Given the description of an element on the screen output the (x, y) to click on. 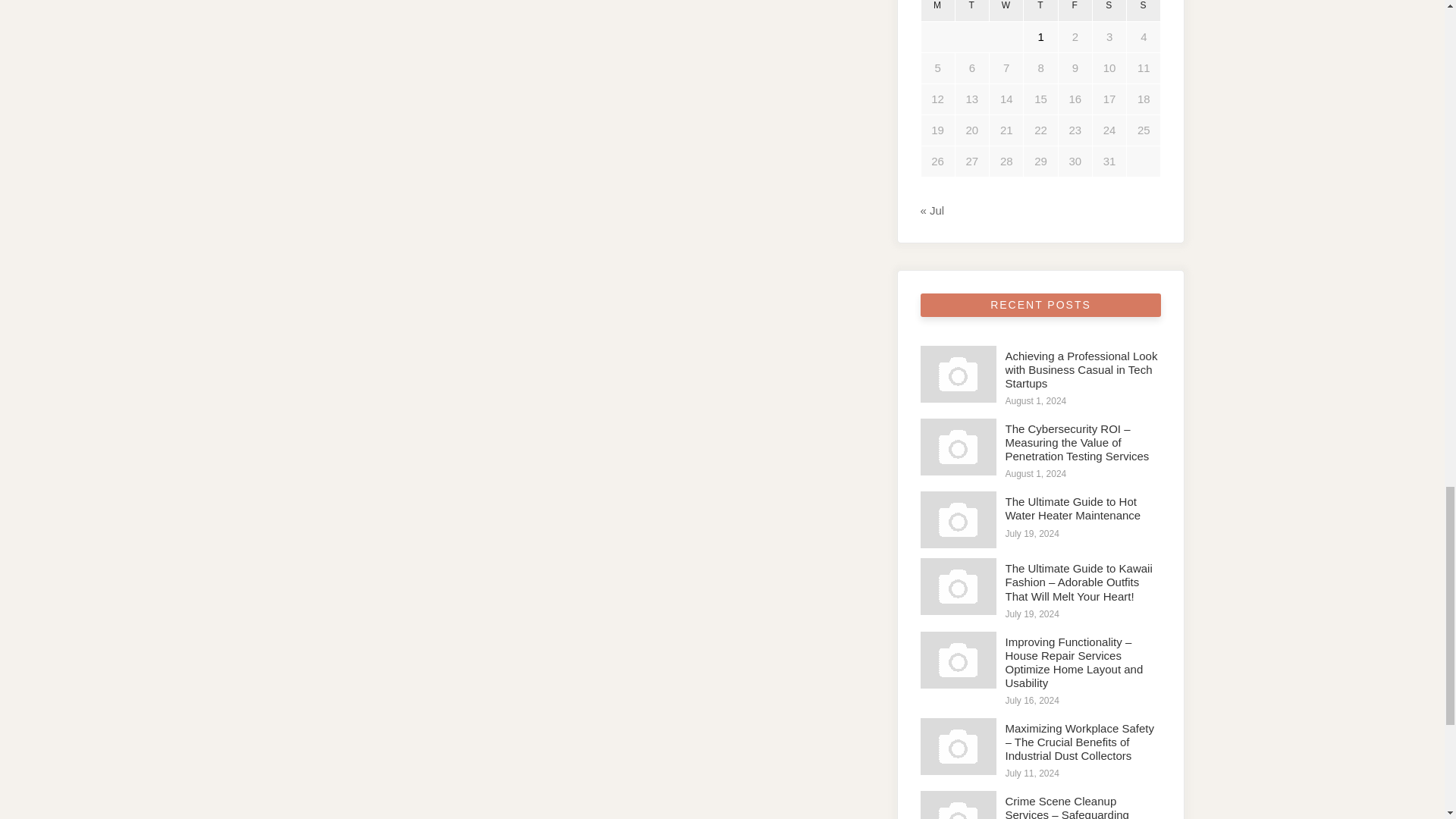
Tuesday (971, 10)
The Ultimate Guide to Hot Water Heater Maintenance (1073, 508)
Thursday (1040, 10)
Wednesday (1005, 10)
Friday (1075, 10)
The Ultimate Guide to Hot Water Heater Maintenance (957, 519)
Sunday (1143, 10)
Saturday (1108, 10)
Monday (937, 10)
